Given the description of an element on the screen output the (x, y) to click on. 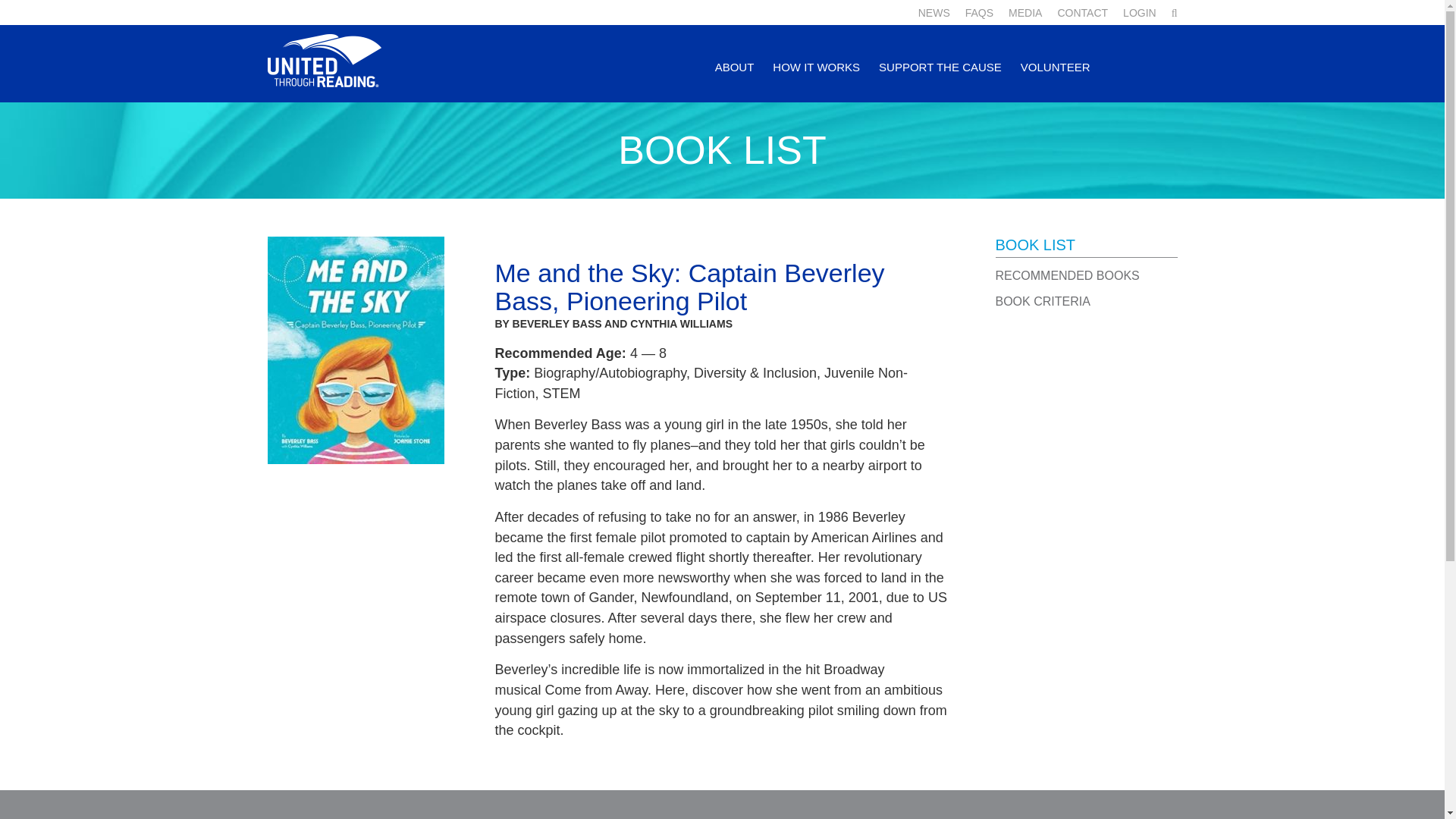
NEWS (934, 12)
VOLUNTEER (1055, 80)
ABOUT (734, 80)
RECOMMENDED BOOKS (1066, 275)
CONTACT (1082, 12)
LOGIN (1139, 12)
HOW IT WORKS (816, 80)
FAQS (978, 12)
SUPPORT THE CAUSE (940, 80)
BOOK CRITERIA (1041, 300)
MEDIA (1025, 12)
